Given the description of an element on the screen output the (x, y) to click on. 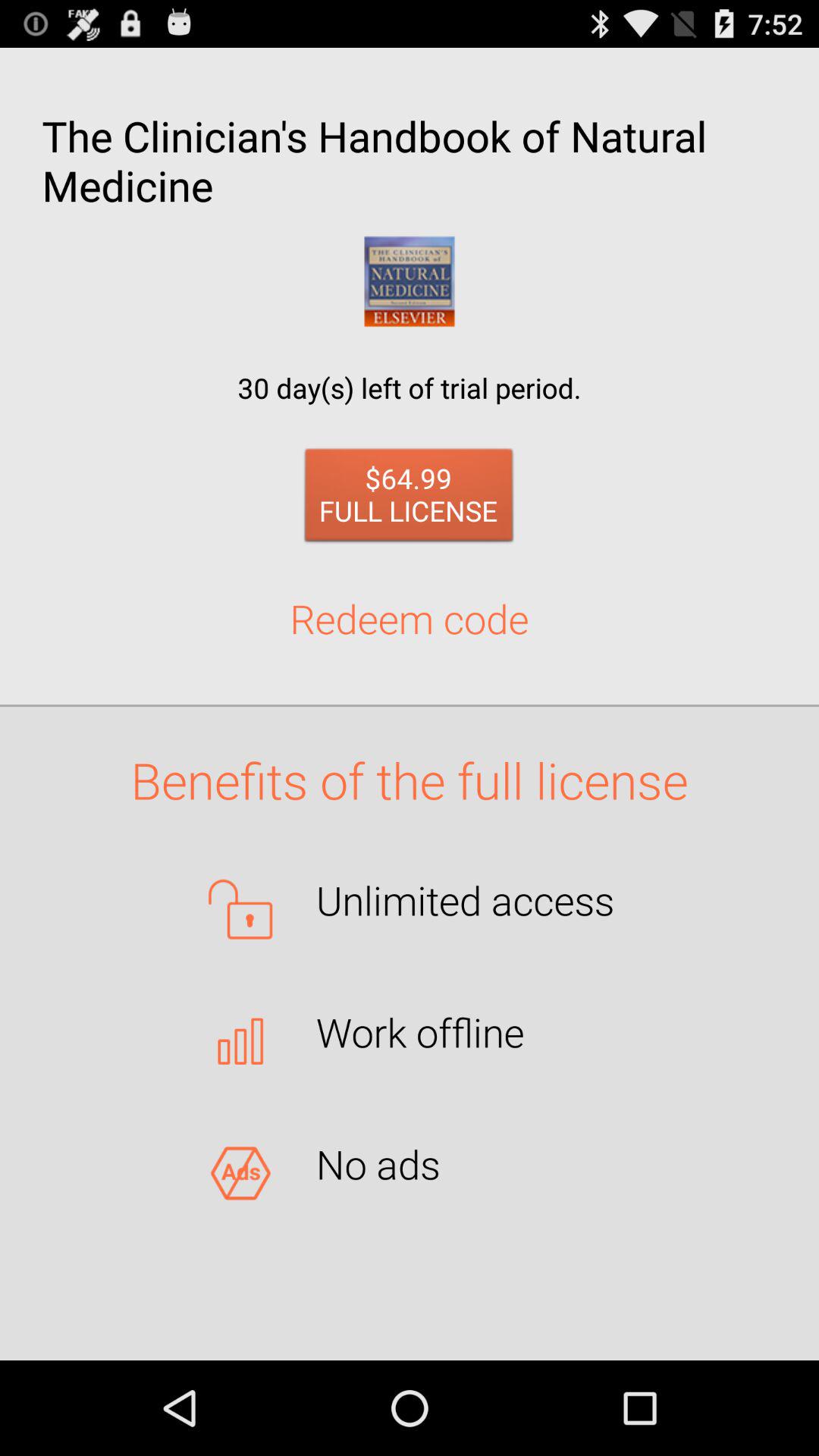
select the button below the 64 99 full item (409, 618)
